Given the description of an element on the screen output the (x, y) to click on. 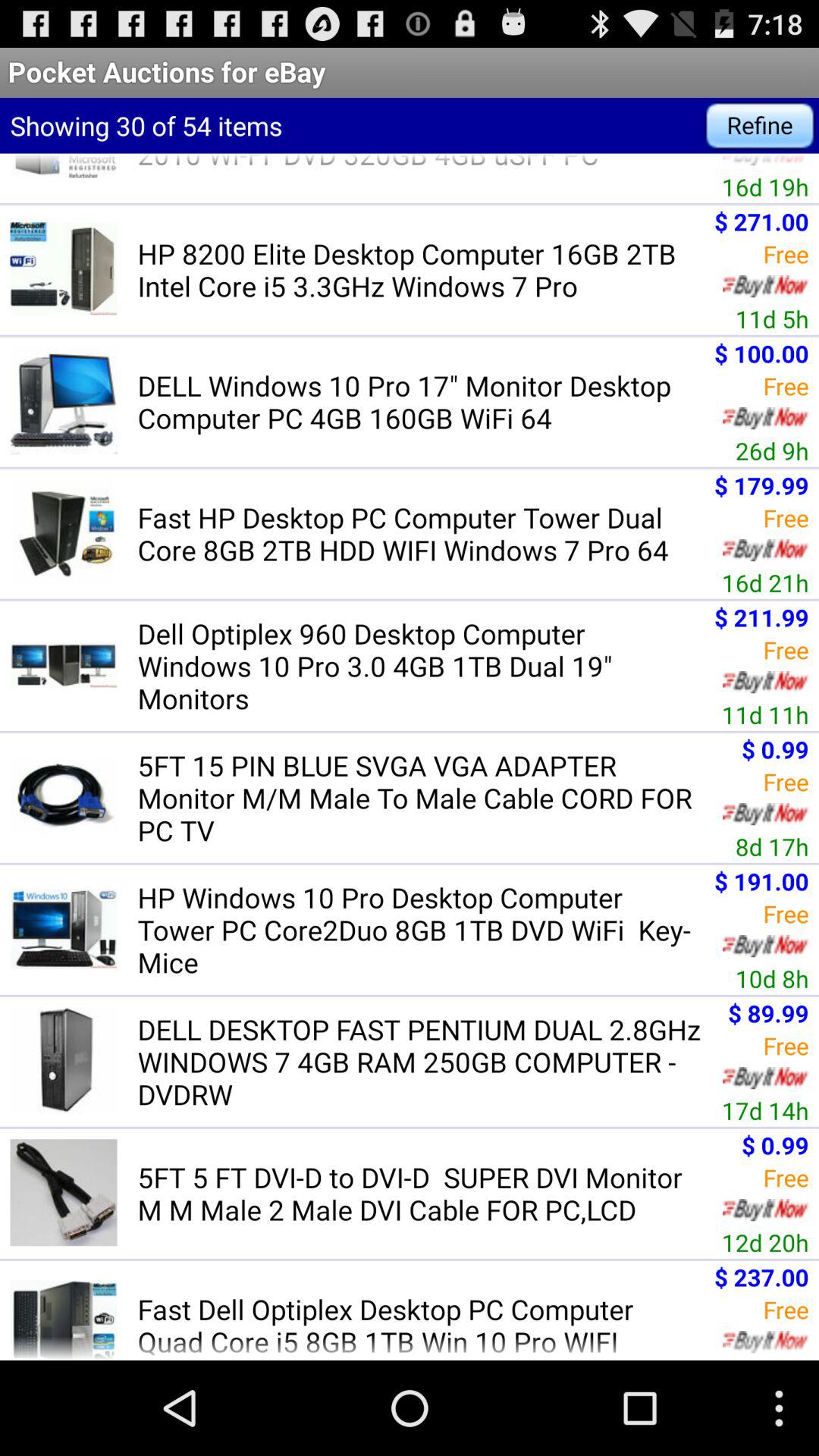
turn on the icon above $ 191.00 app (771, 846)
